Given the description of an element on the screen output the (x, y) to click on. 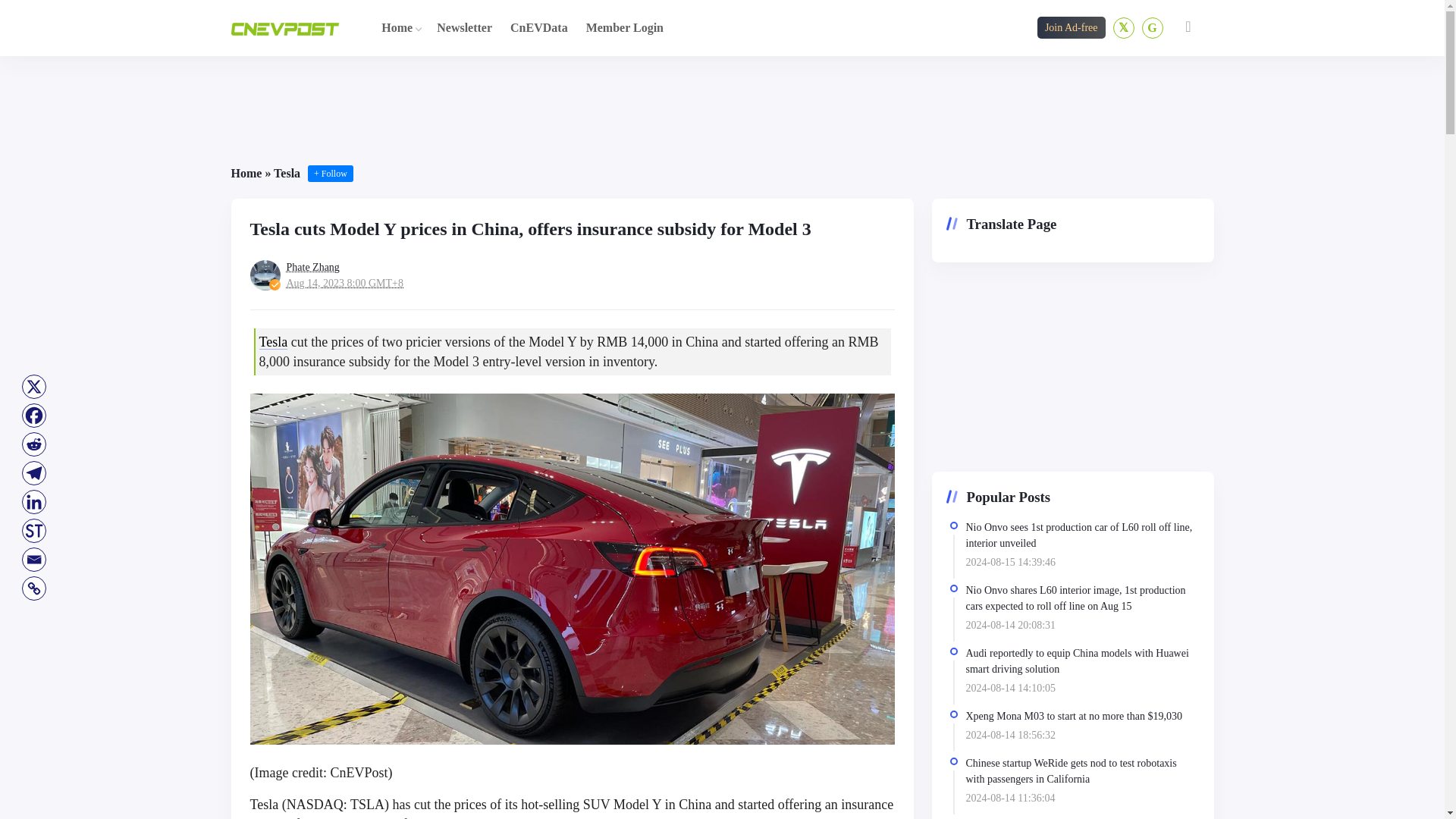
Member Login (624, 27)
Tesla (286, 173)
CnEVData (538, 27)
Newsletter (463, 27)
X (34, 386)
G (1152, 27)
Join Ad-free (1070, 27)
Facebook (34, 415)
Tesla (273, 341)
Home (246, 173)
